Given the description of an element on the screen output the (x, y) to click on. 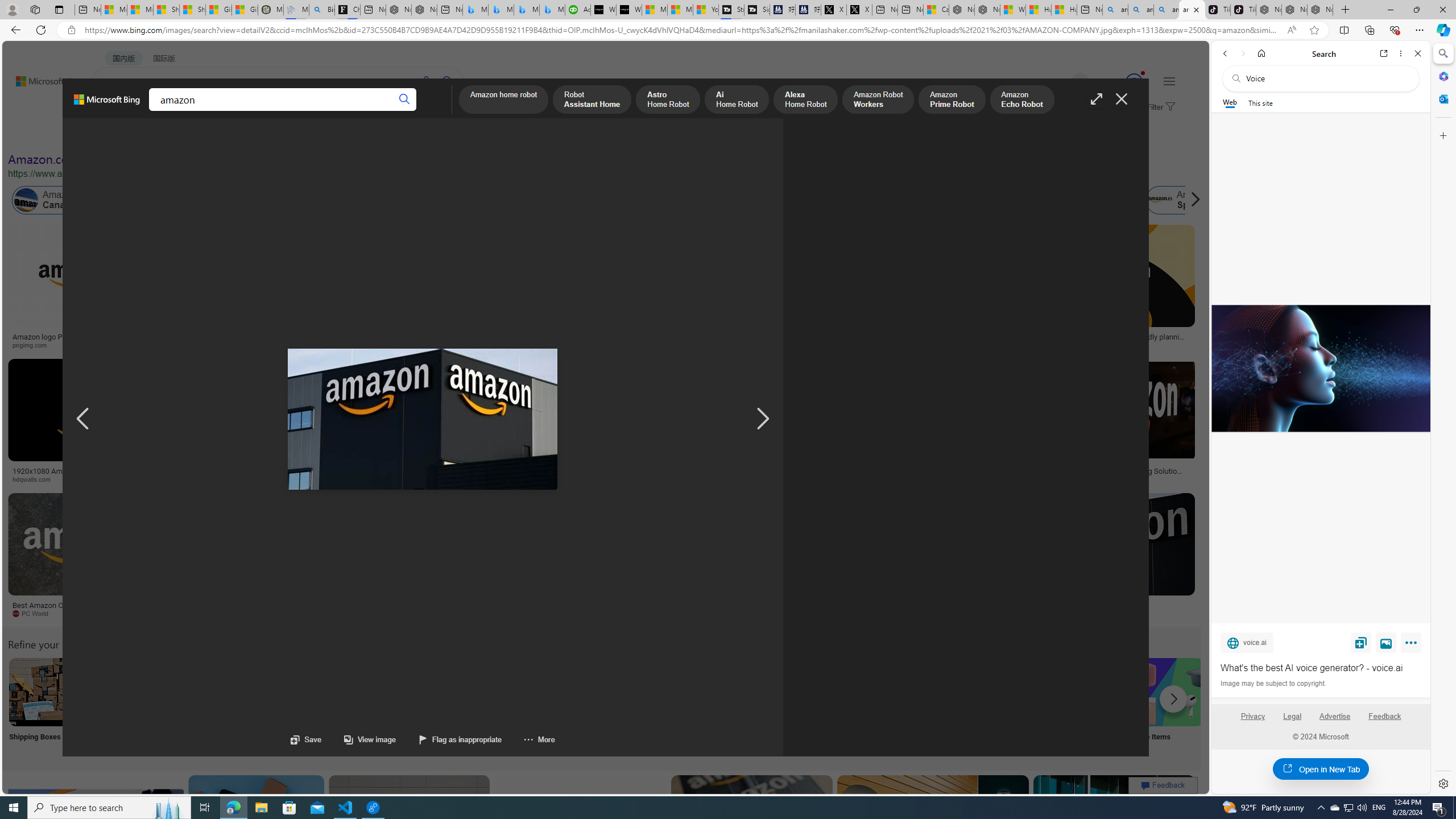
WEB (114, 111)
pngimg.com (76, 344)
Privacy (1252, 715)
Best Amazon Cyber Monday deals 2019 | PCWorld (82, 608)
Amazon Animals (426, 199)
Save (1361, 642)
Visa Card Login (1093, 706)
Amazon Sale Items (1169, 691)
Feedback (1384, 720)
MAPS (397, 111)
PC World (34, 612)
thewrap.com (470, 612)
Web scope (1230, 102)
